Given the description of an element on the screen output the (x, y) to click on. 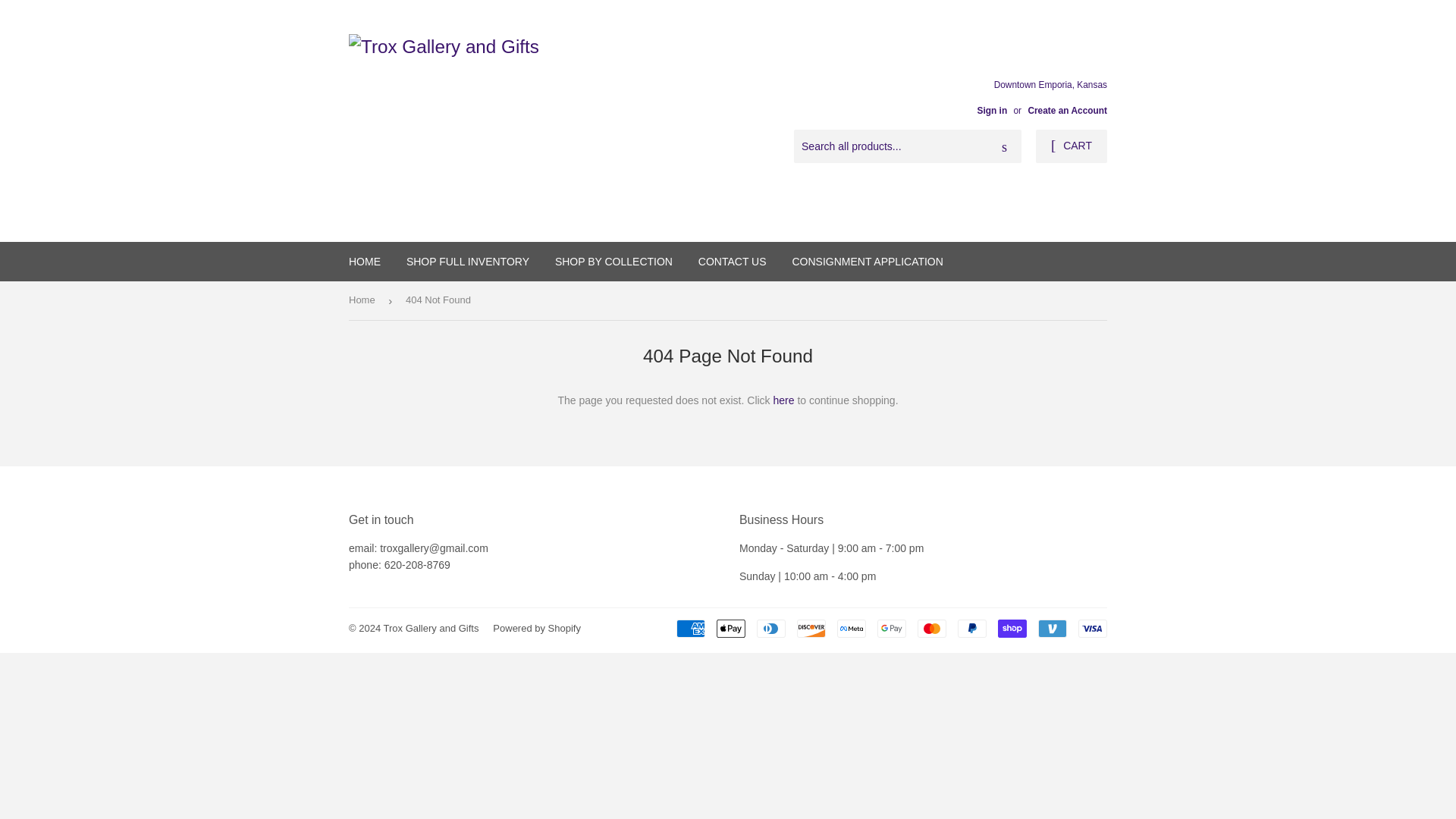
Sign in (991, 110)
Meta Pay (851, 628)
Apple Pay (730, 628)
here (783, 399)
Trox Gallery and Gifts (431, 627)
CONTACT US (732, 261)
Diners Club (771, 628)
Create an Account (1066, 110)
PayPal (972, 628)
Shop Pay (1011, 628)
